Given the description of an element on the screen output the (x, y) to click on. 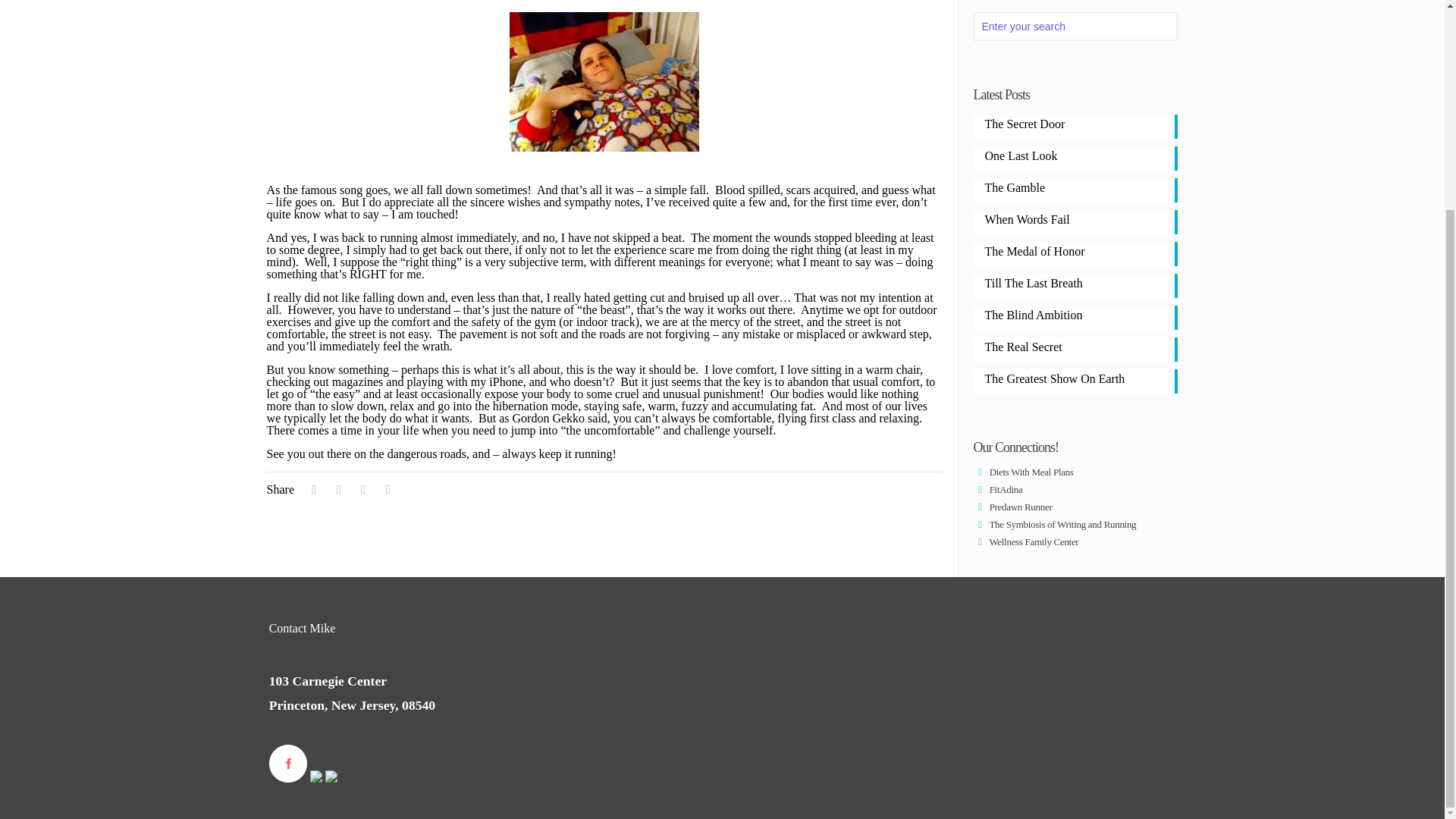
Diets With Meal Plans (1024, 471)
When Words Fail (1075, 220)
Predawn Runner (1013, 506)
The Blind Ambition (1075, 316)
The Greatest Show On Earth (1075, 380)
Wellness Family Center (1026, 541)
The Secret Door (1075, 124)
FitAdina (998, 489)
The Medal of Honor (1075, 252)
The Gamble (1075, 188)
One Last Look (1075, 156)
The Symbiosis of Writing and Running (1055, 523)
The Real Secret (1075, 348)
Till The Last Breath (1075, 284)
